Given the description of an element on the screen output the (x, y) to click on. 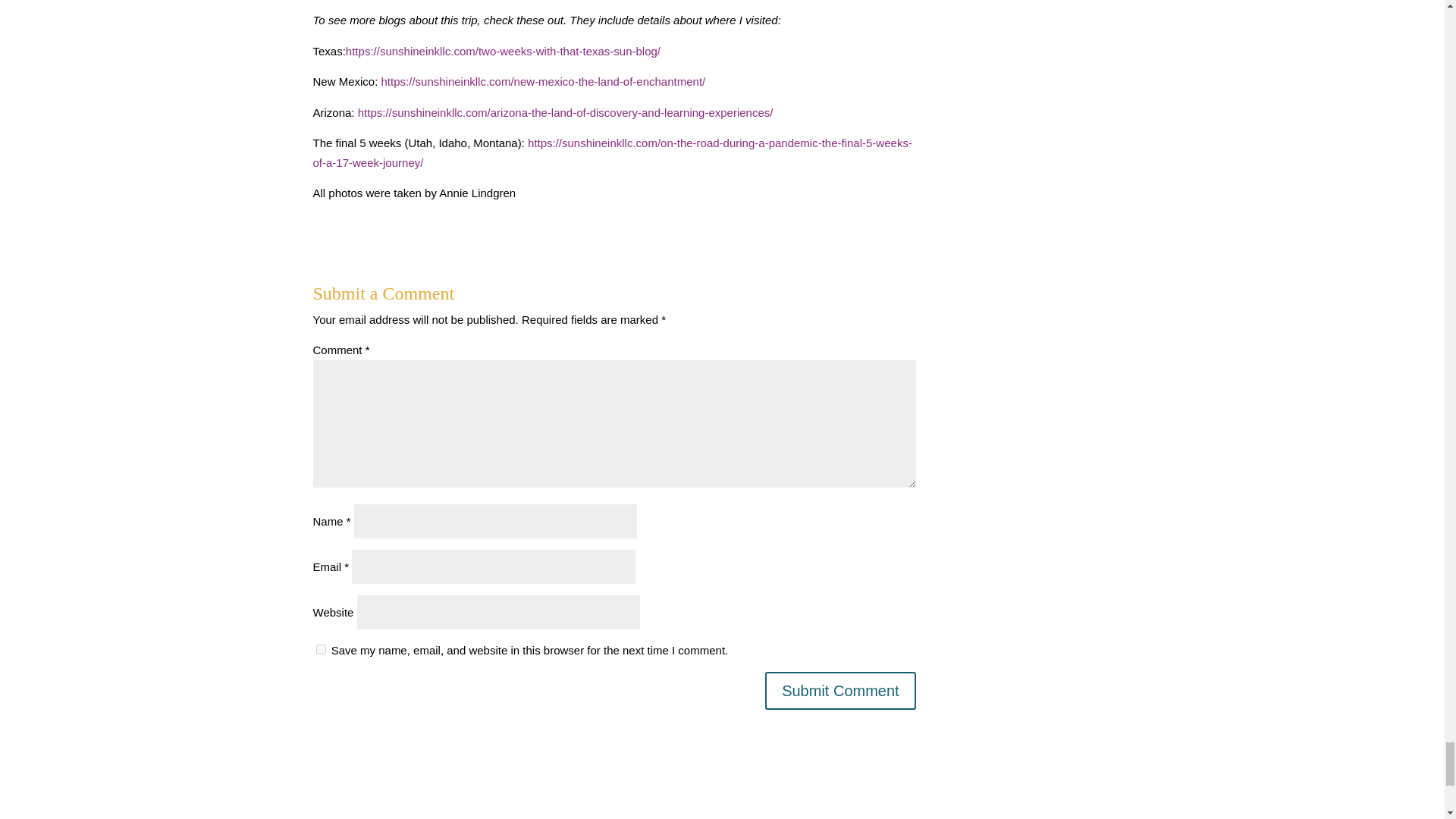
yes (319, 649)
Submit Comment (840, 690)
Submit Comment (840, 690)
